Given the description of an element on the screen output the (x, y) to click on. 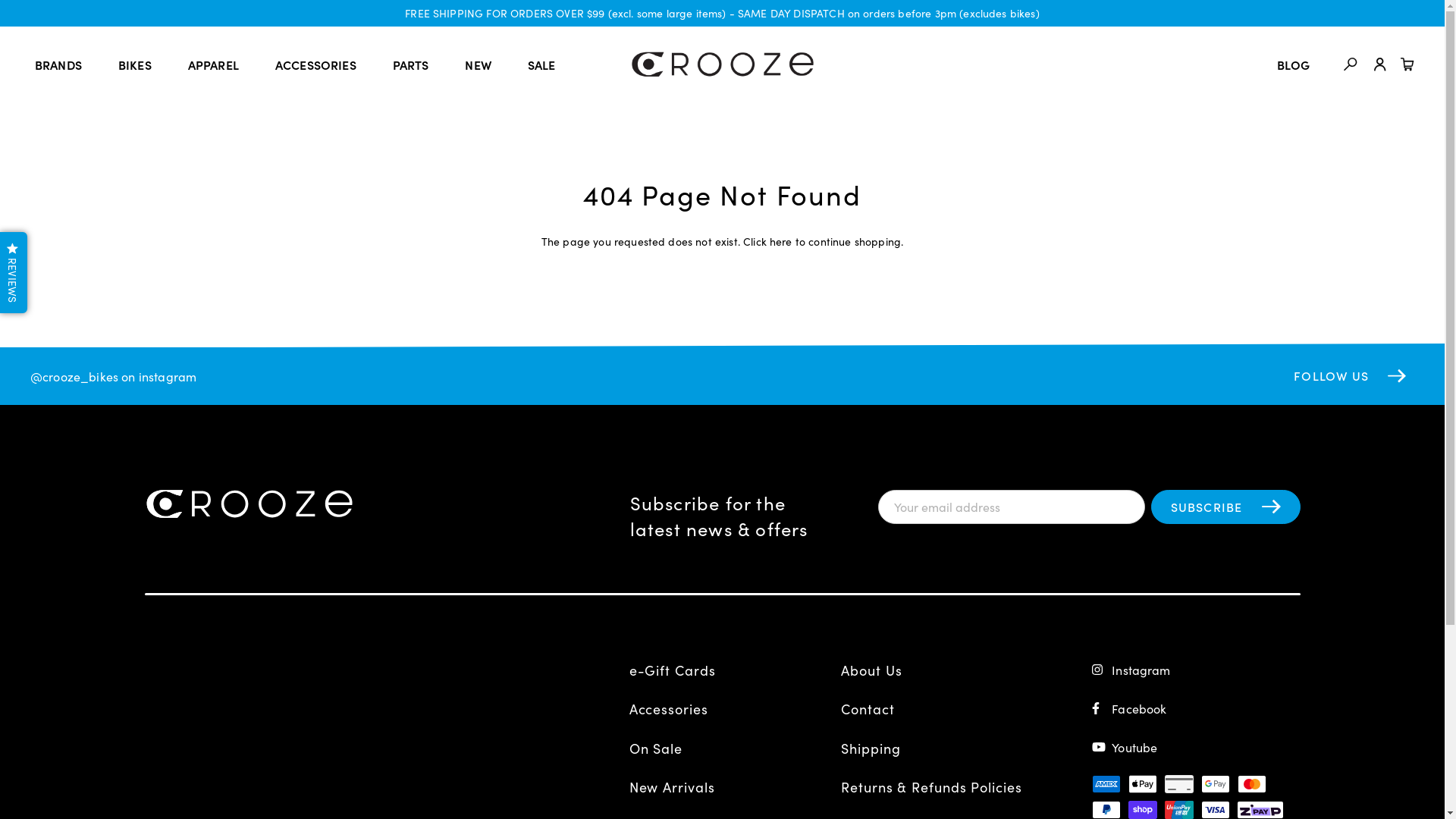
e-Gift Cards Element type: text (729, 669)
@crooze_bikes on instagram Element type: text (113, 375)
Instagram Element type: text (1195, 669)
NEW Element type: text (477, 64)
Your cart Element type: hover (1407, 64)
SUBSCRIBE Element type: text (1225, 506)
Youtube Element type: text (1195, 746)
FOLLOW US Element type: text (1353, 375)
BIKES Element type: text (134, 64)
On Sale Element type: text (729, 748)
Returns & Refunds Policies Element type: text (940, 786)
Search Element type: hover (1350, 64)
New Arrivals Element type: text (729, 786)
here Element type: text (780, 240)
SALE Element type: text (541, 64)
APPAREL Element type: text (213, 64)
PARTS Element type: text (410, 64)
Shipping Element type: text (940, 748)
BRANDS Element type: text (58, 64)
BLOG Element type: text (1292, 64)
Home Element type: hover (721, 63)
Accessories Element type: text (729, 708)
About Us Element type: text (940, 669)
Account Element type: hover (1379, 64)
ACCESSORIES Element type: text (315, 64)
Facebook Element type: text (1195, 707)
Contact Element type: text (940, 708)
